Given the description of an element on the screen output the (x, y) to click on. 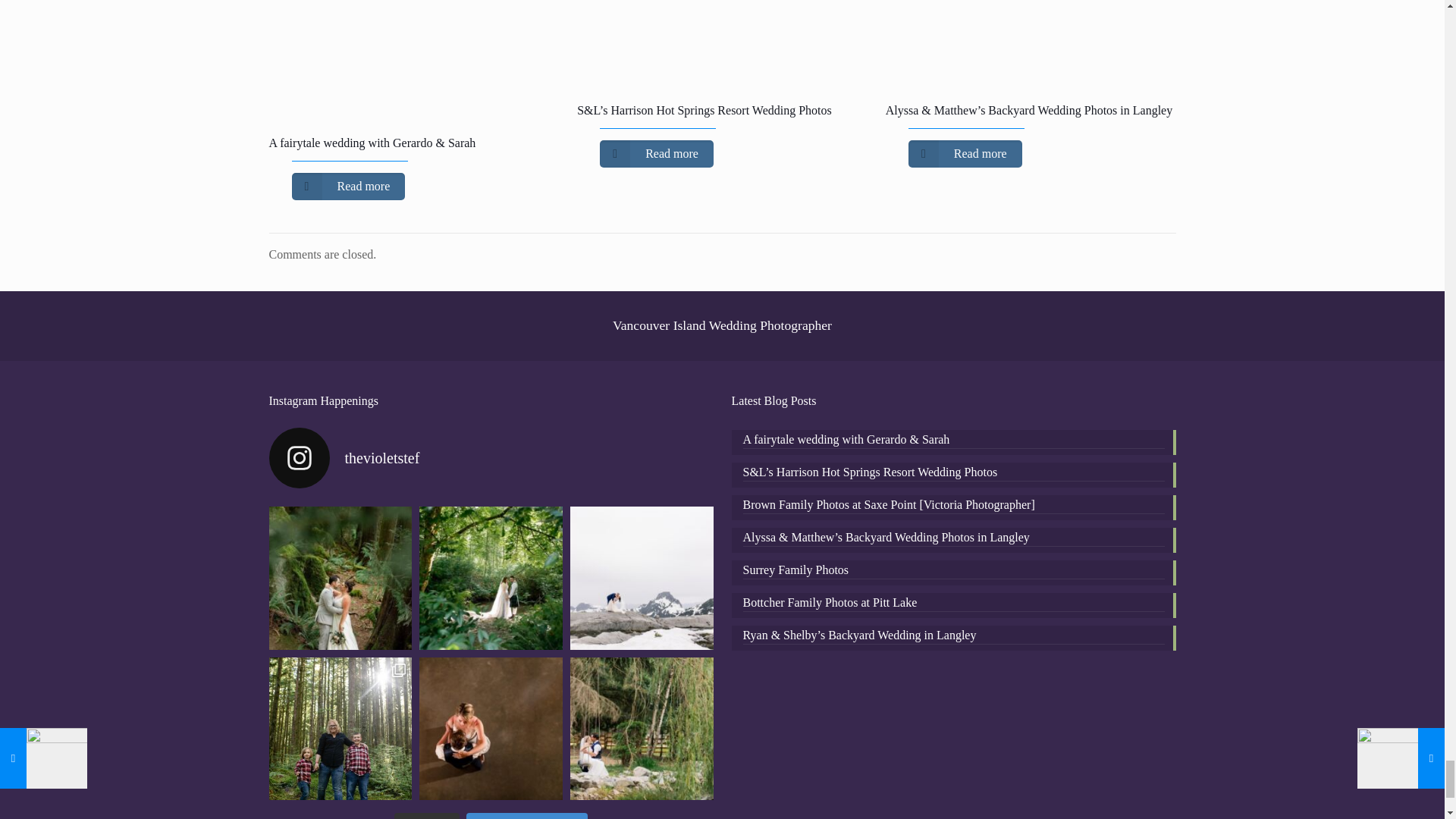
Read more (347, 185)
